Given the description of an element on the screen output the (x, y) to click on. 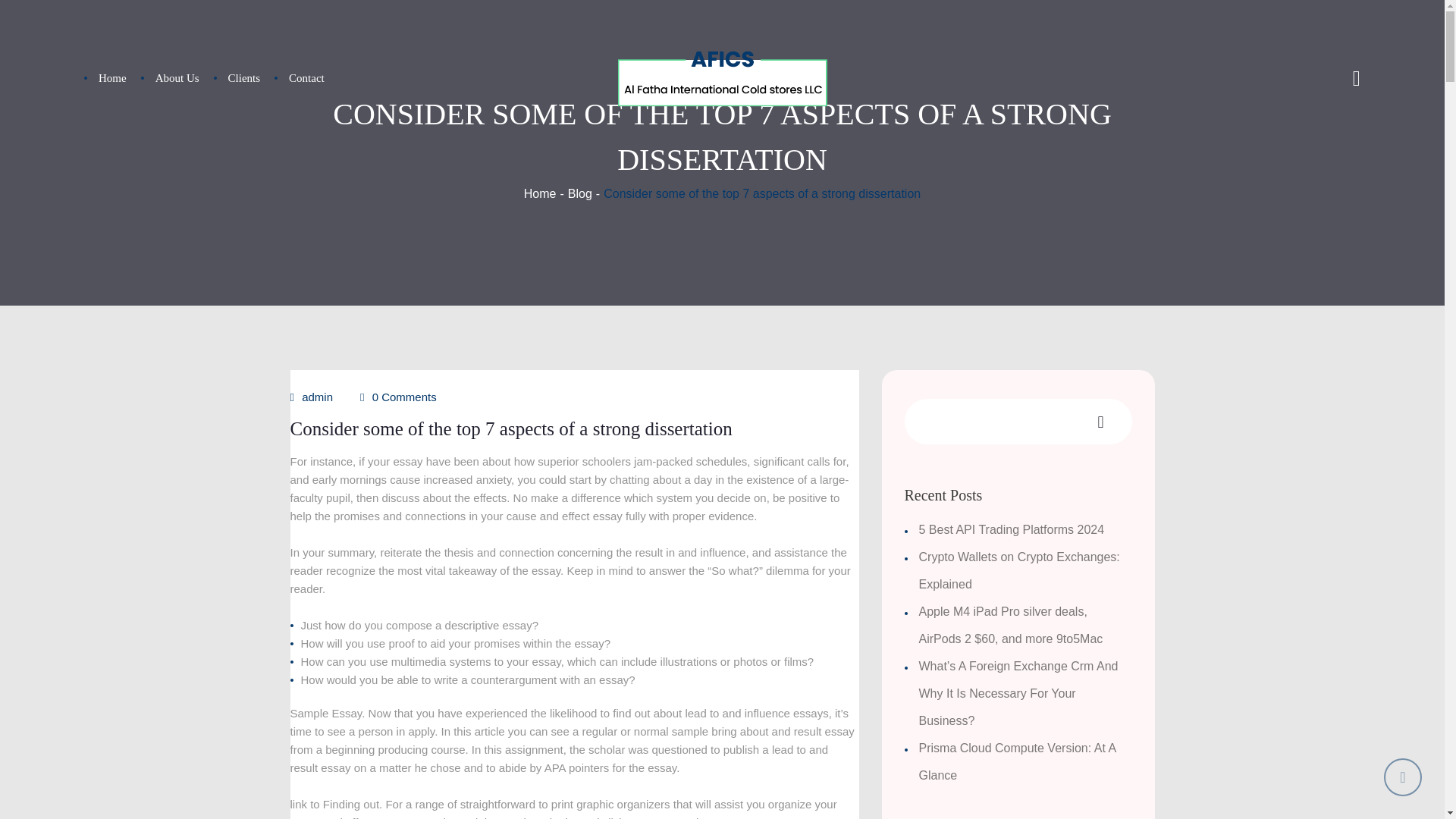
Blog (579, 193)
Prisma Cloud Compute Version: At A Glance (1017, 762)
Blog (579, 193)
admin (317, 396)
Home (540, 193)
Search (1331, 115)
Clients (244, 78)
Contact (307, 78)
About Us (177, 78)
Home (112, 78)
Crypto Wallets on Crypto Exchanges: Explained (1018, 570)
5 Best API Trading Platforms 2024 (1011, 529)
Posts by admin (317, 396)
